Given the description of an element on the screen output the (x, y) to click on. 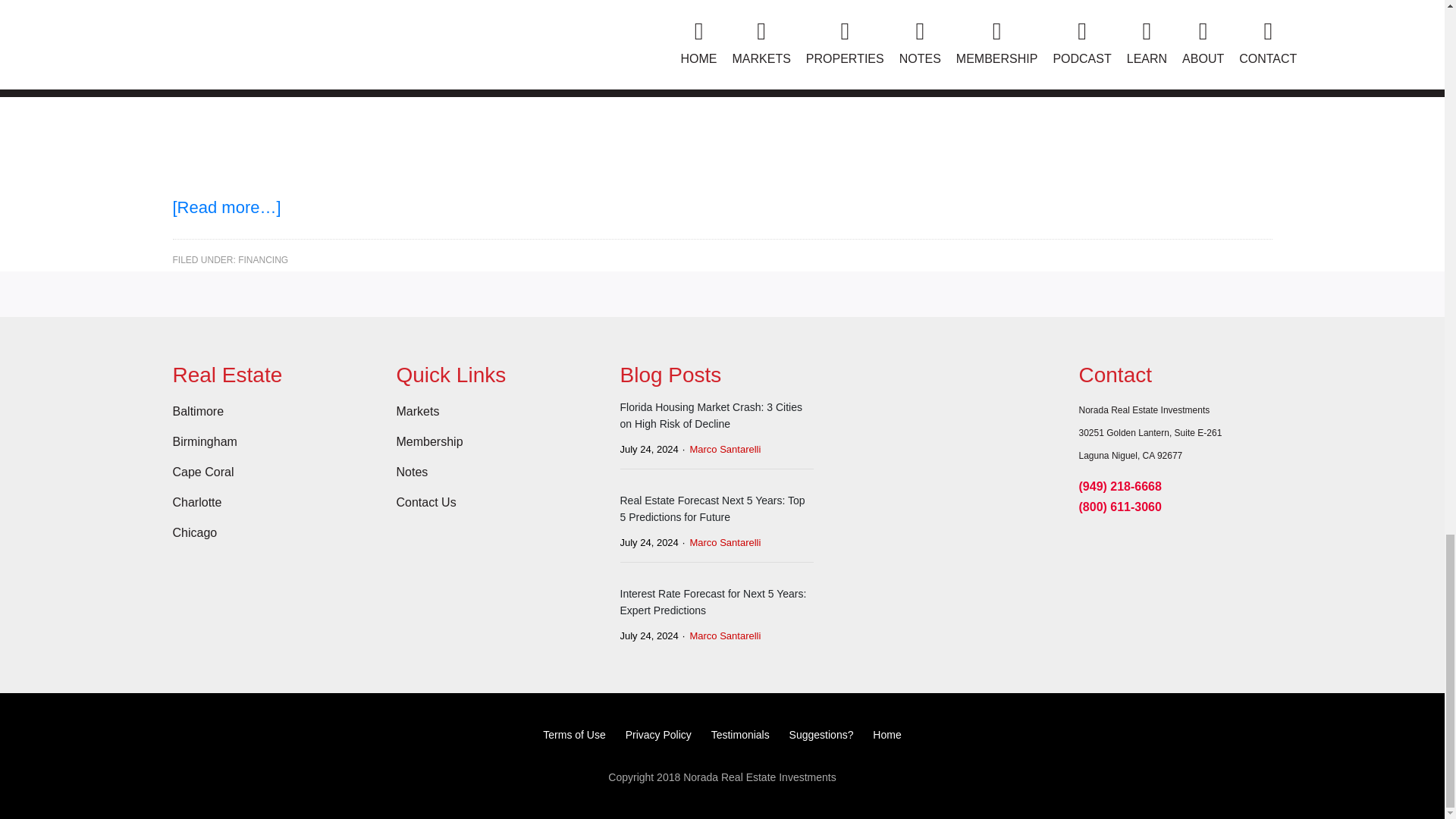
Interest Rate Forecast for Next 5 Years: Expert Predictions (716, 602)
Charlotte (197, 502)
Baltimore (198, 411)
Marco Santarelli (719, 542)
Birmingham (205, 441)
Chicago (194, 532)
Terms of Use (574, 734)
Marco Santarelli (719, 449)
Markets (417, 411)
Contact Us (425, 502)
Cape Coral (203, 472)
FINANCING (263, 259)
Notes (412, 472)
Membership (429, 441)
